Given the description of an element on the screen output the (x, y) to click on. 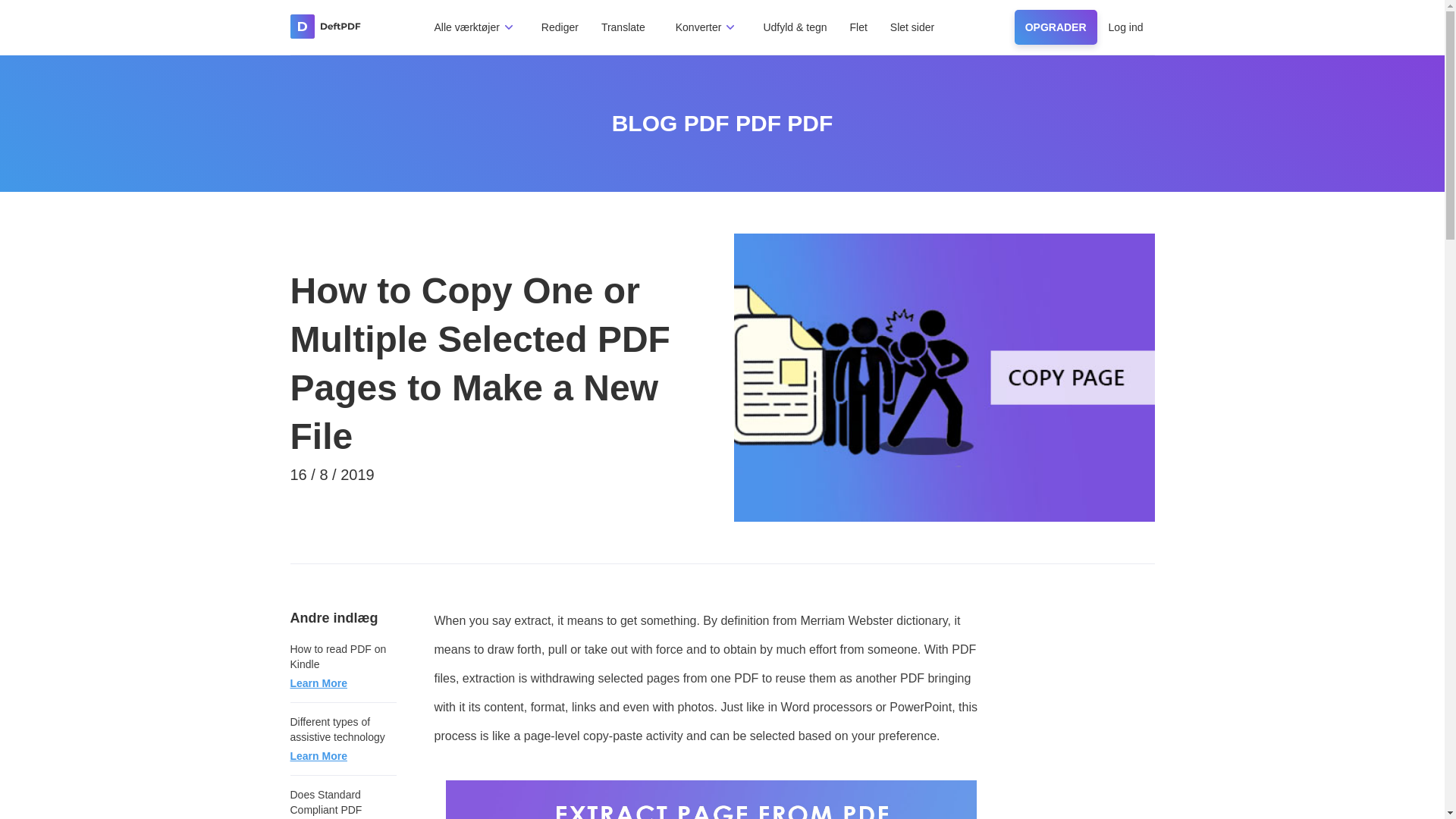
Slet sider (911, 27)
OPGRADER (1055, 27)
Rediger (559, 27)
Translate (623, 27)
Log ind (1125, 27)
Konverter (698, 27)
Flet (857, 27)
